Given the description of an element on the screen output the (x, y) to click on. 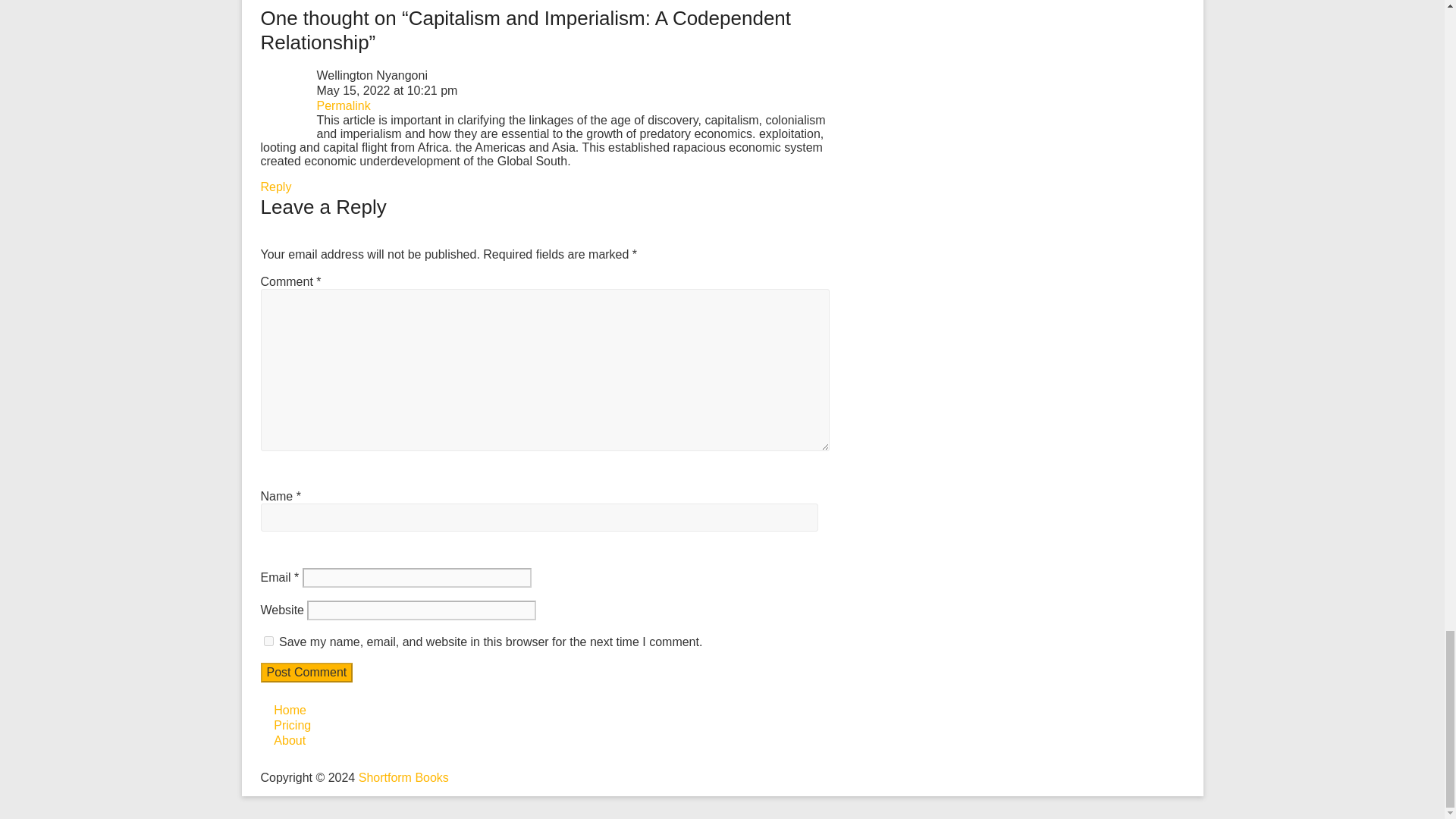
Post Comment (306, 672)
yes (268, 641)
